Given the description of an element on the screen output the (x, y) to click on. 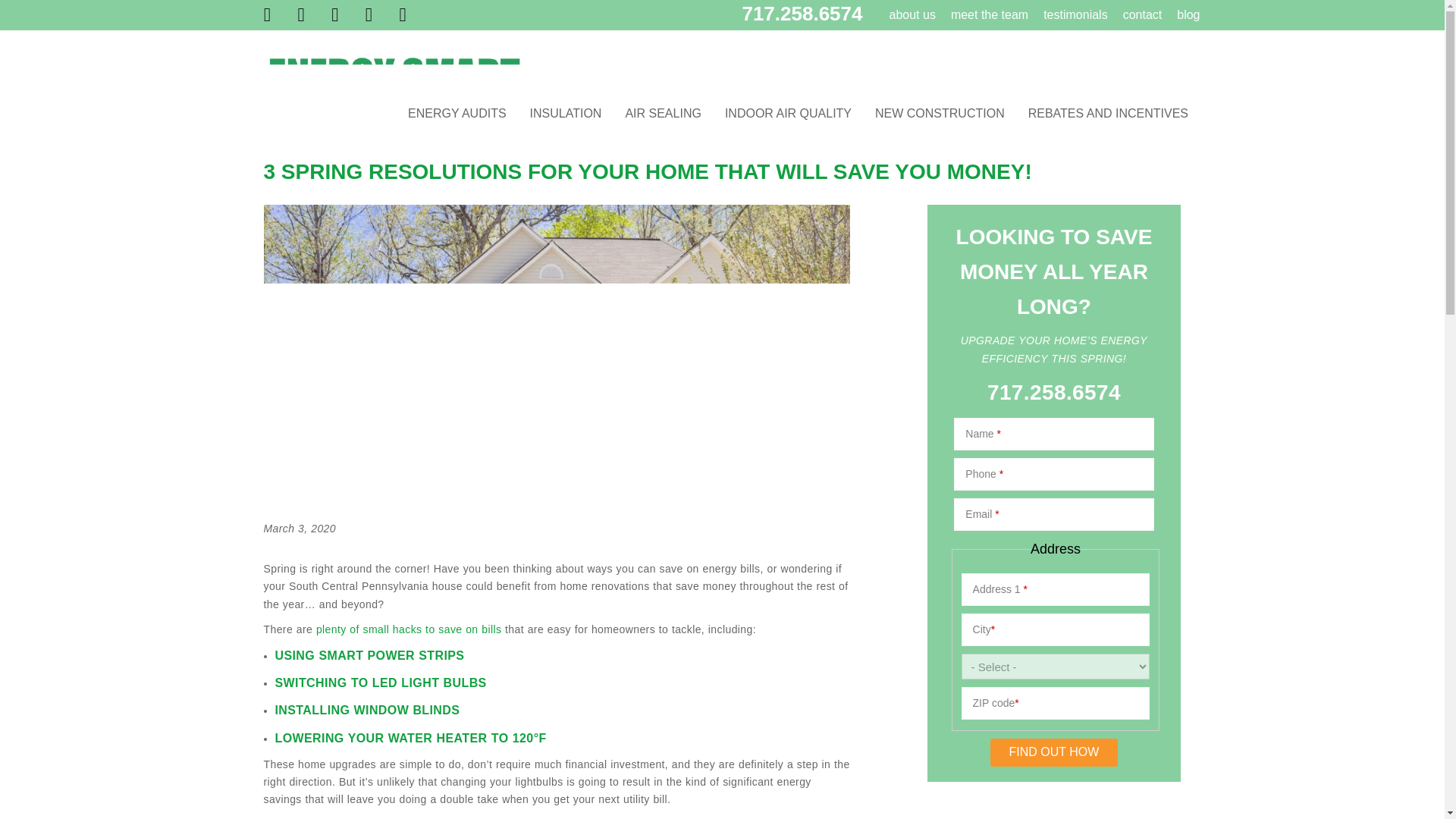
717.258.6574 (1054, 392)
contact (1140, 15)
717.258.6574 (801, 12)
meet the team (987, 15)
blog (1186, 15)
twitter (369, 15)
INSULATION (565, 113)
ENERGY AUDITS (457, 113)
instagram (301, 15)
